Given the description of an element on the screen output the (x, y) to click on. 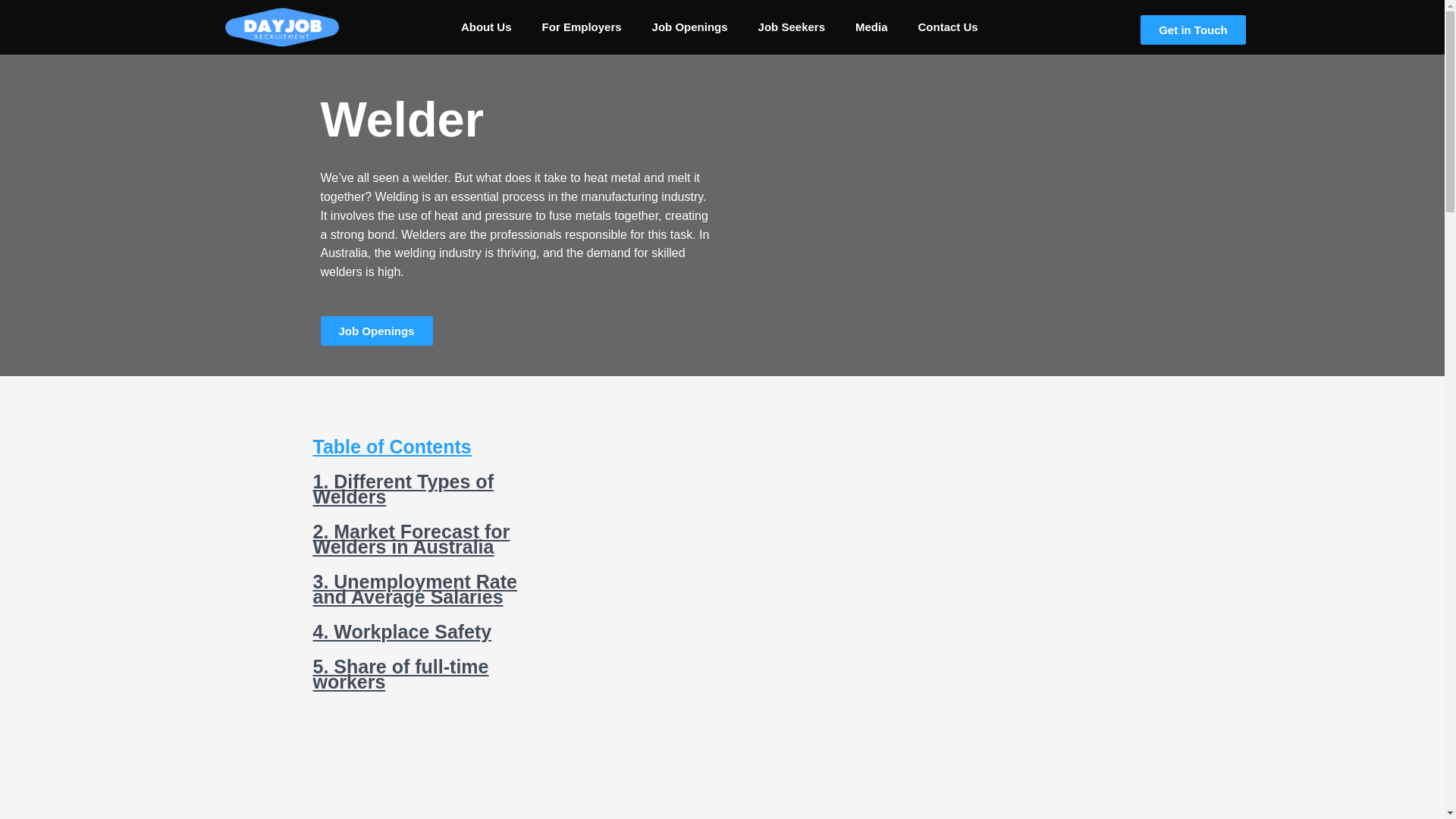
Job Seekers (791, 27)
Contact Us (947, 27)
Media (871, 27)
For Employers (582, 27)
Job Openings (689, 27)
Get in Touch (1193, 30)
About Us (486, 27)
